Given the description of an element on the screen output the (x, y) to click on. 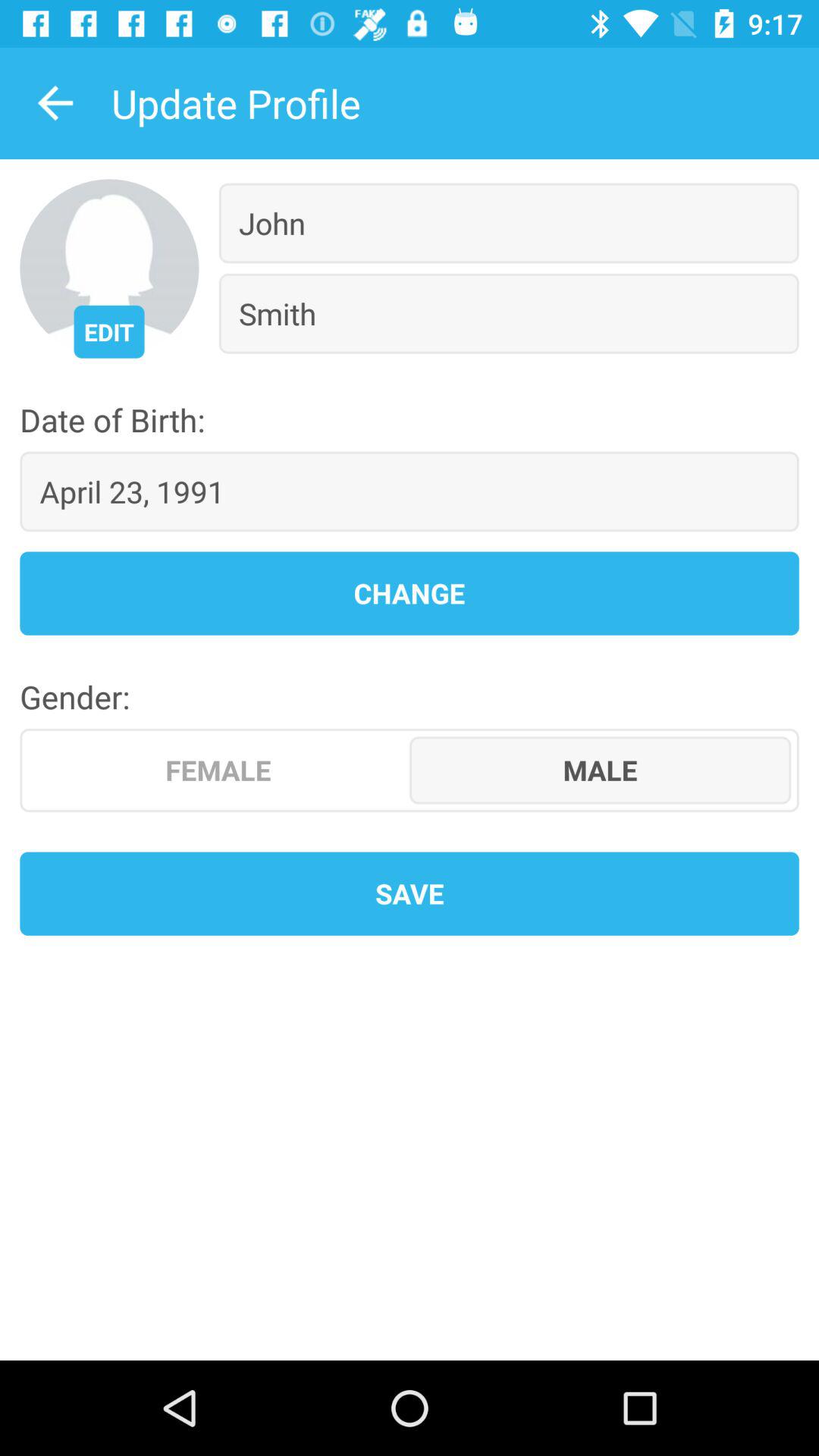
launch item on the right (600, 770)
